Given the description of an element on the screen output the (x, y) to click on. 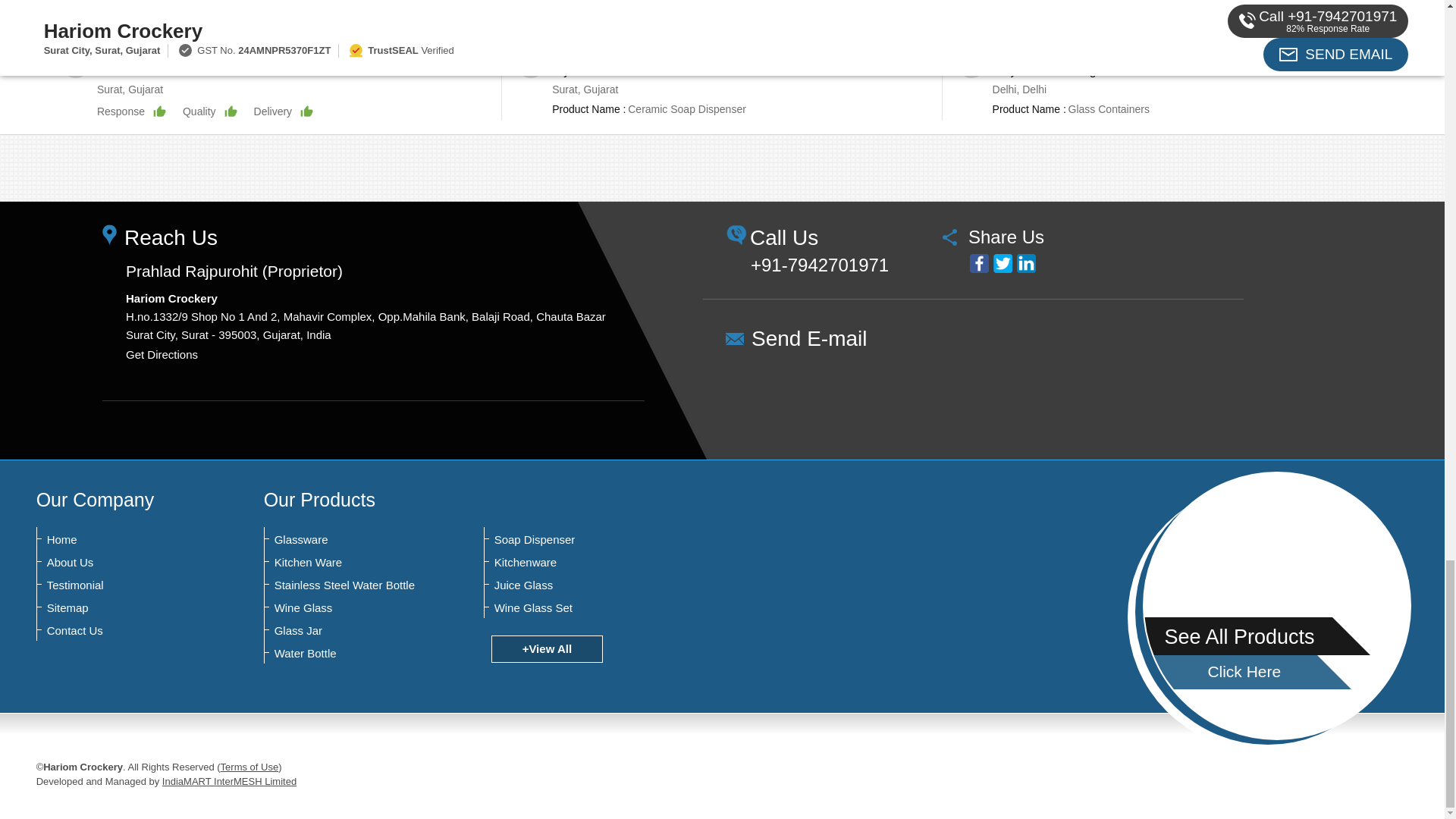
LinkedIn (1025, 262)
Get Directions (161, 354)
Facebook (978, 262)
About Us (121, 562)
Home (121, 539)
Twitter (1001, 262)
Testimonial (121, 585)
